Given the description of an element on the screen output the (x, y) to click on. 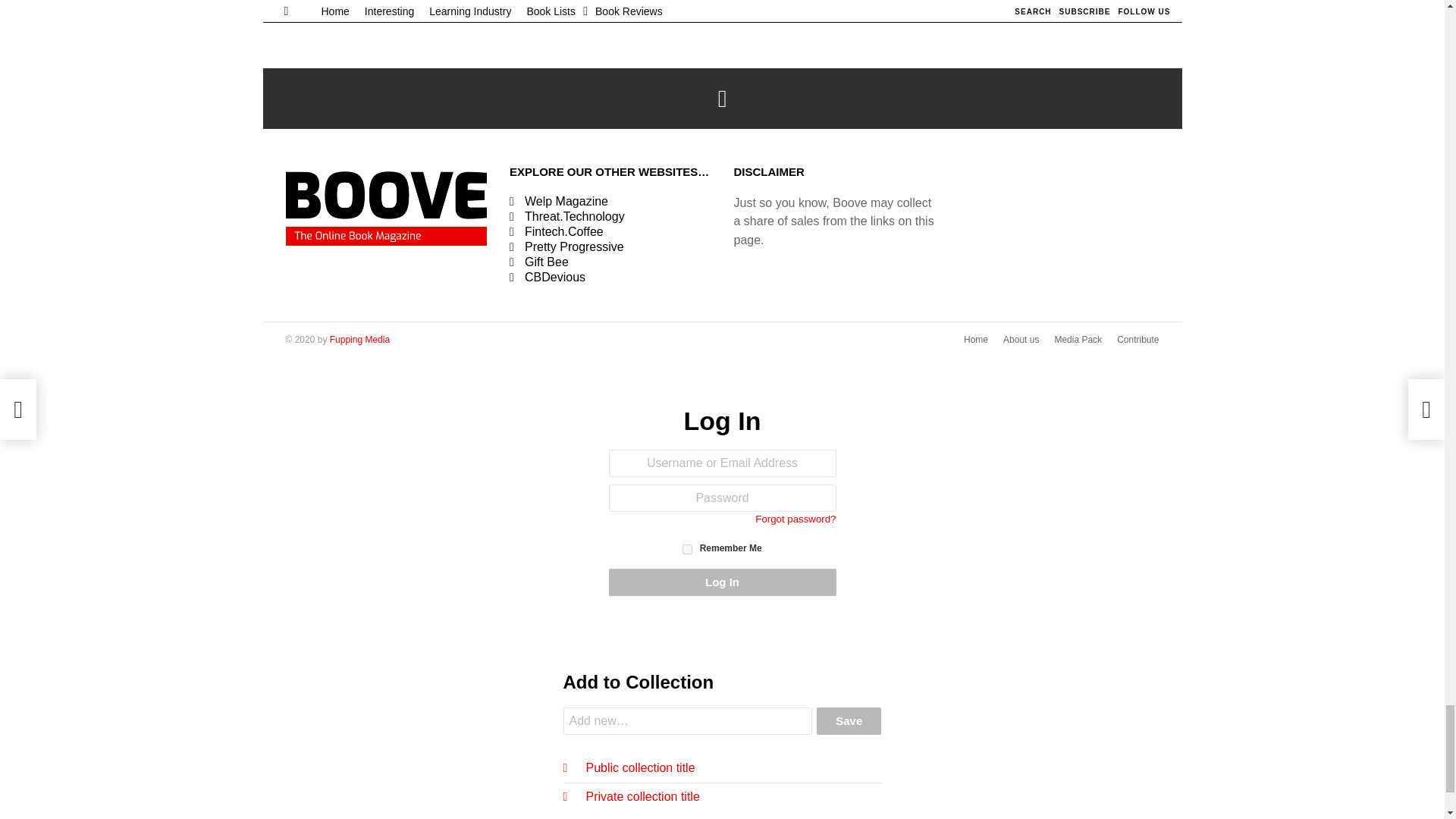
Log In (721, 582)
forever (687, 549)
Save (848, 720)
